Given the description of an element on the screen output the (x, y) to click on. 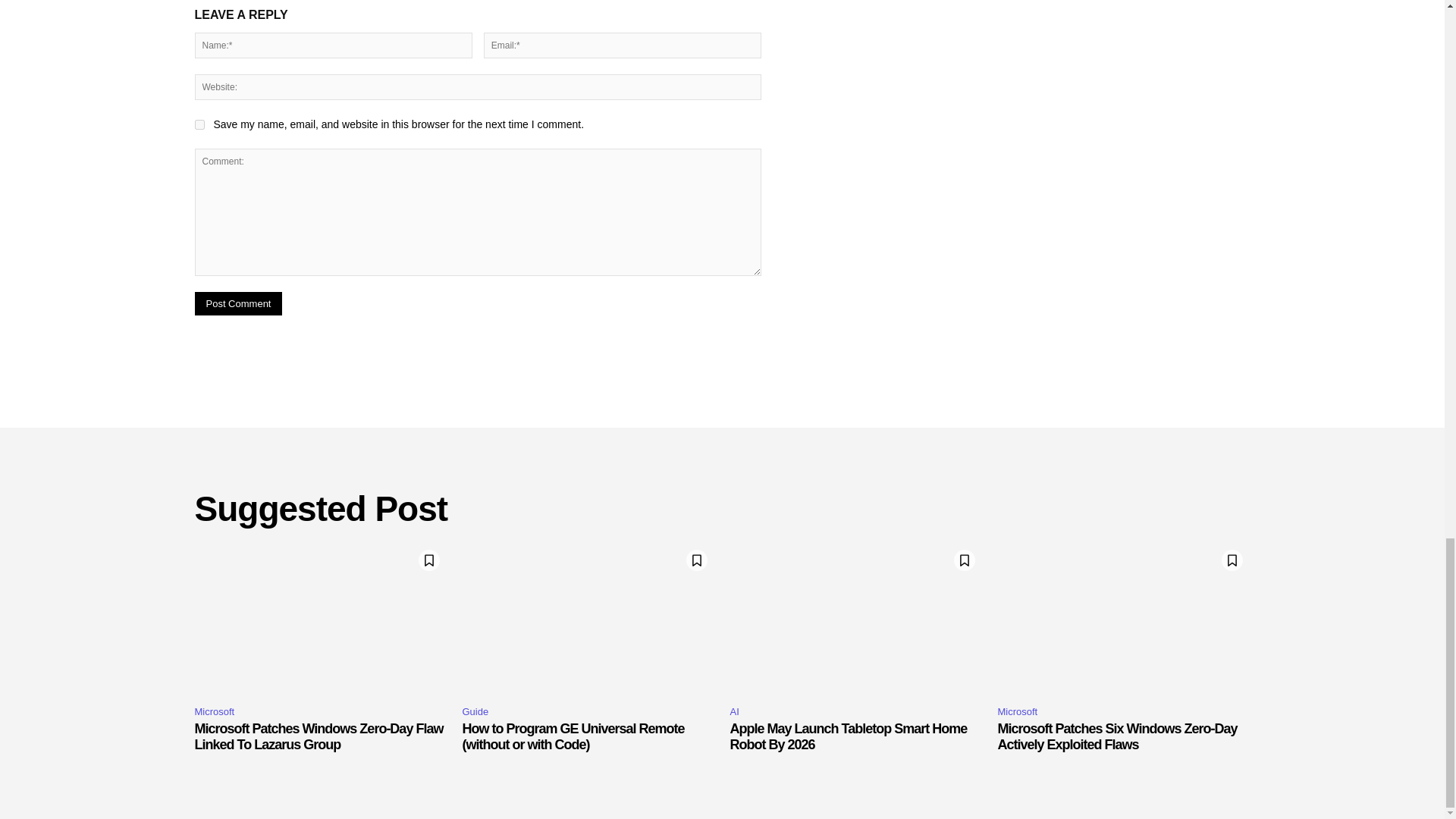
Post Comment (237, 303)
Post Comment (237, 303)
yes (198, 124)
